Given the description of an element on the screen output the (x, y) to click on. 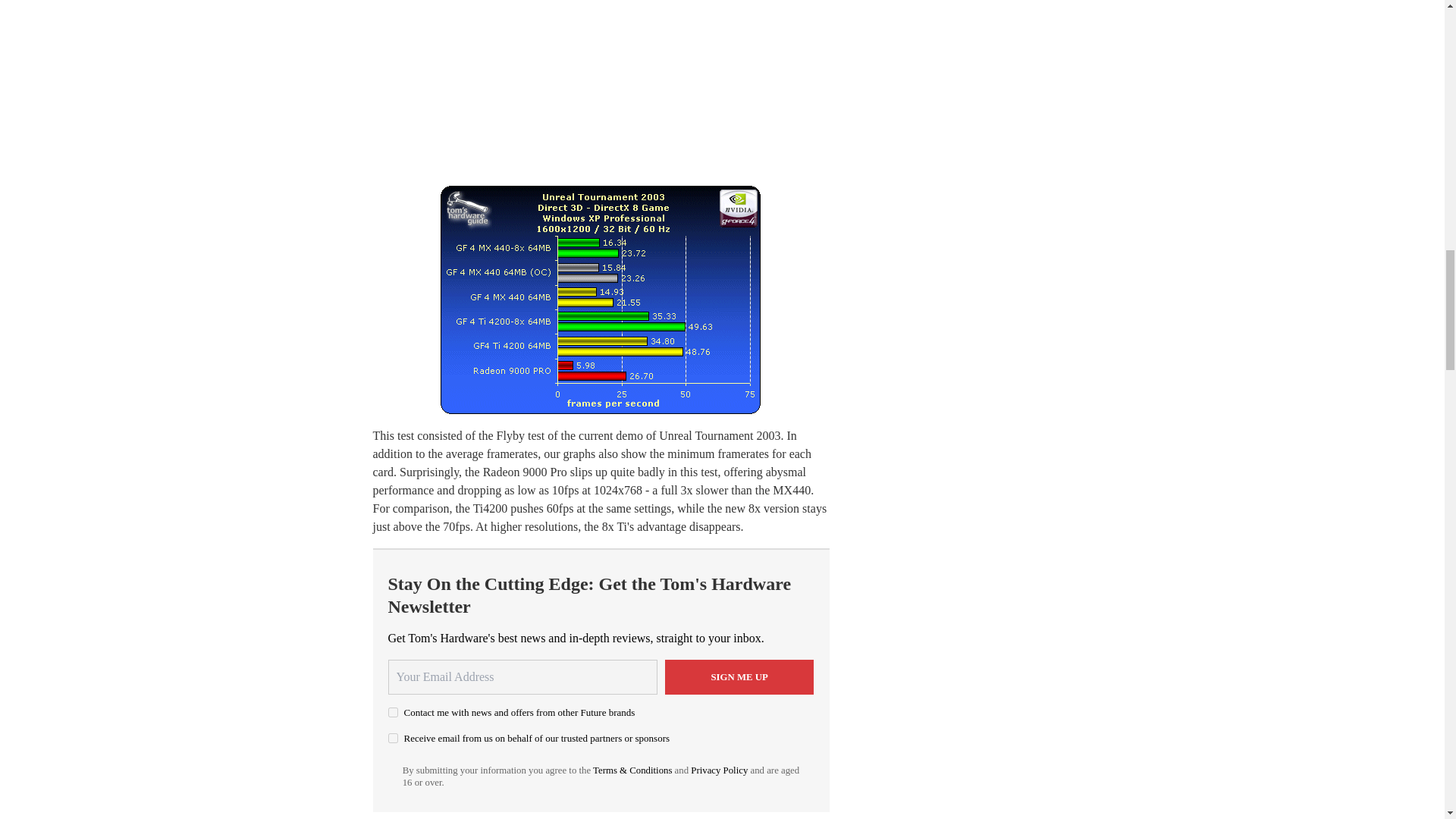
Sign me up (739, 677)
on (392, 737)
on (392, 712)
